Given the description of an element on the screen output the (x, y) to click on. 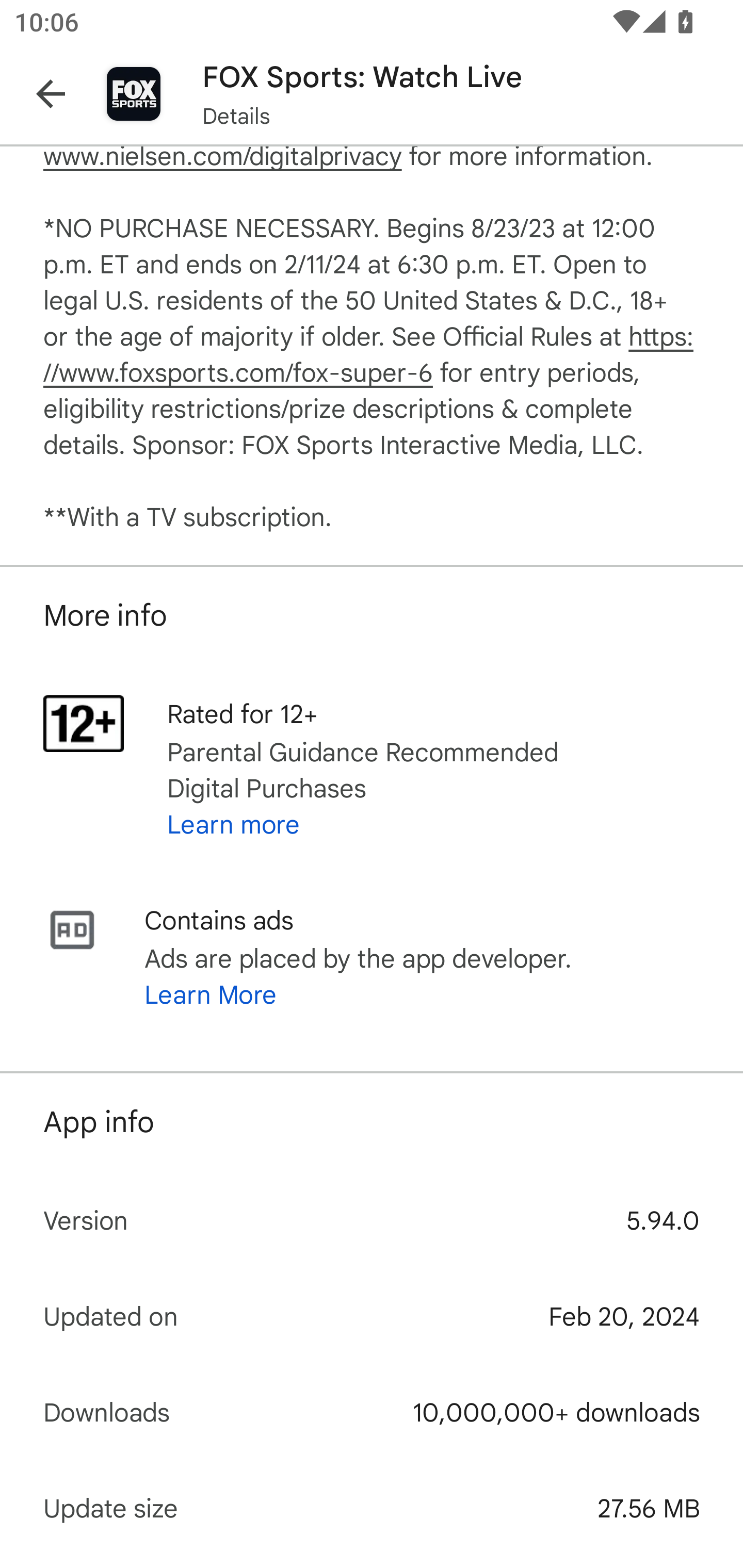
Navigate up (50, 93)
